Given the description of an element on the screen output the (x, y) to click on. 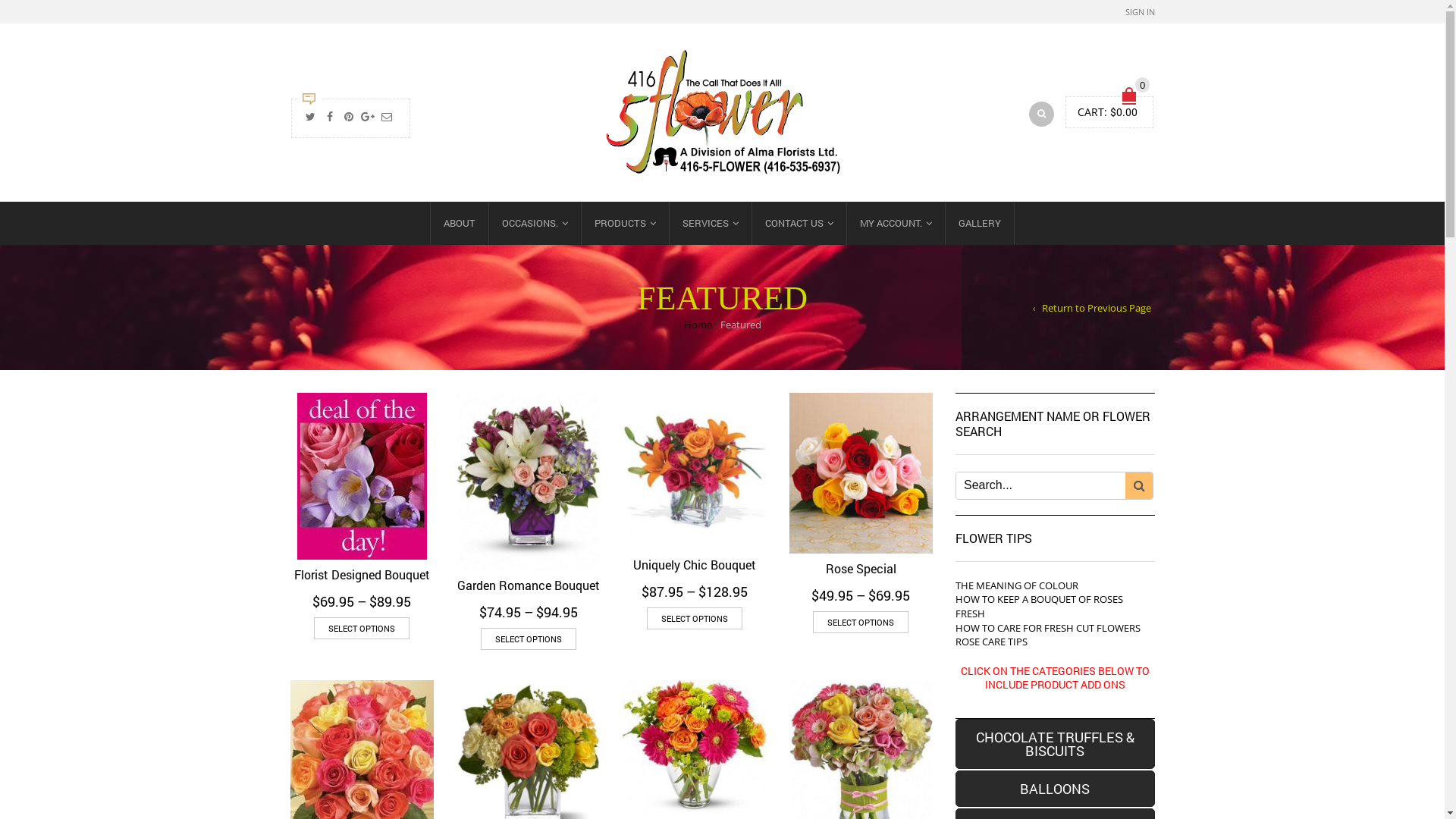
PRODUCTS Element type: text (624, 222)
Florist Designed Bouquet Element type: hover (361, 475)
Rose Special Element type: text (860, 568)
Garden Romance Bouquet Element type: text (528, 585)
CONTACT US Element type: text (798, 222)
SELECT OPTIONS Element type: text (694, 618)
Uniquely Chic Bouquet Element type: hover (693, 470)
BALLOONS Element type: text (1055, 788)
Home Element type: text (698, 324)
ABOUT Element type: text (458, 222)
SELECT OPTIONS Element type: text (361, 628)
End of the Rainbow Bouquet Element type: hover (693, 747)
OCCASIONS. Element type: text (534, 222)
Florist Designed Bouquet Element type: text (361, 574)
SIGN IN Element type: text (1139, 11)
CHOCOLATE TRUFFLES & BISCUITS Element type: text (1055, 743)
HOW TO KEEP A BOUQUET OF ROSES FRESH Element type: text (1039, 606)
Rose Special Element type: hover (860, 472)
Return to Previous Page Element type: text (1091, 308)
THE MEANING OF COLOUR Element type: text (1016, 585)
MY ACCOUNT. Element type: text (895, 222)
SELECT OPTIONS Element type: text (860, 622)
SERVICES Element type: text (709, 222)
GALLERY Element type: text (979, 222)
HOW TO CARE FOR FRESH CUT FLOWERS Element type: text (1047, 627)
ROSE CARE TIPS Element type: text (991, 641)
SELECT OPTIONS Element type: text (528, 638)
Garden Romance Bouquet Element type: hover (527, 481)
Uniquely Chic Bouquet Element type: text (694, 564)
Login Element type: text (1101, 223)
